Given the description of an element on the screen output the (x, y) to click on. 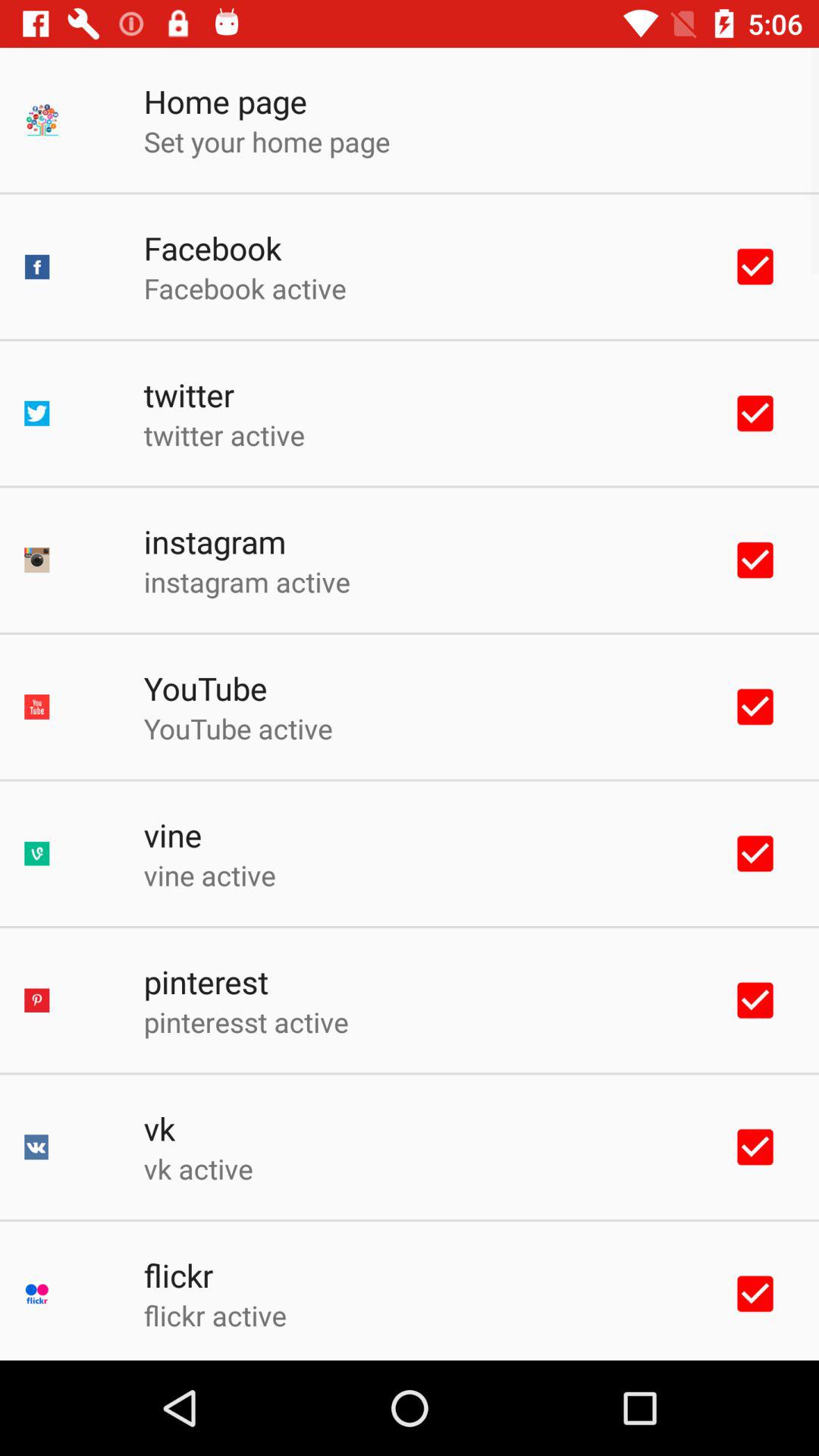
flip until the pinteresst active app (245, 1021)
